Given the description of an element on the screen output the (x, y) to click on. 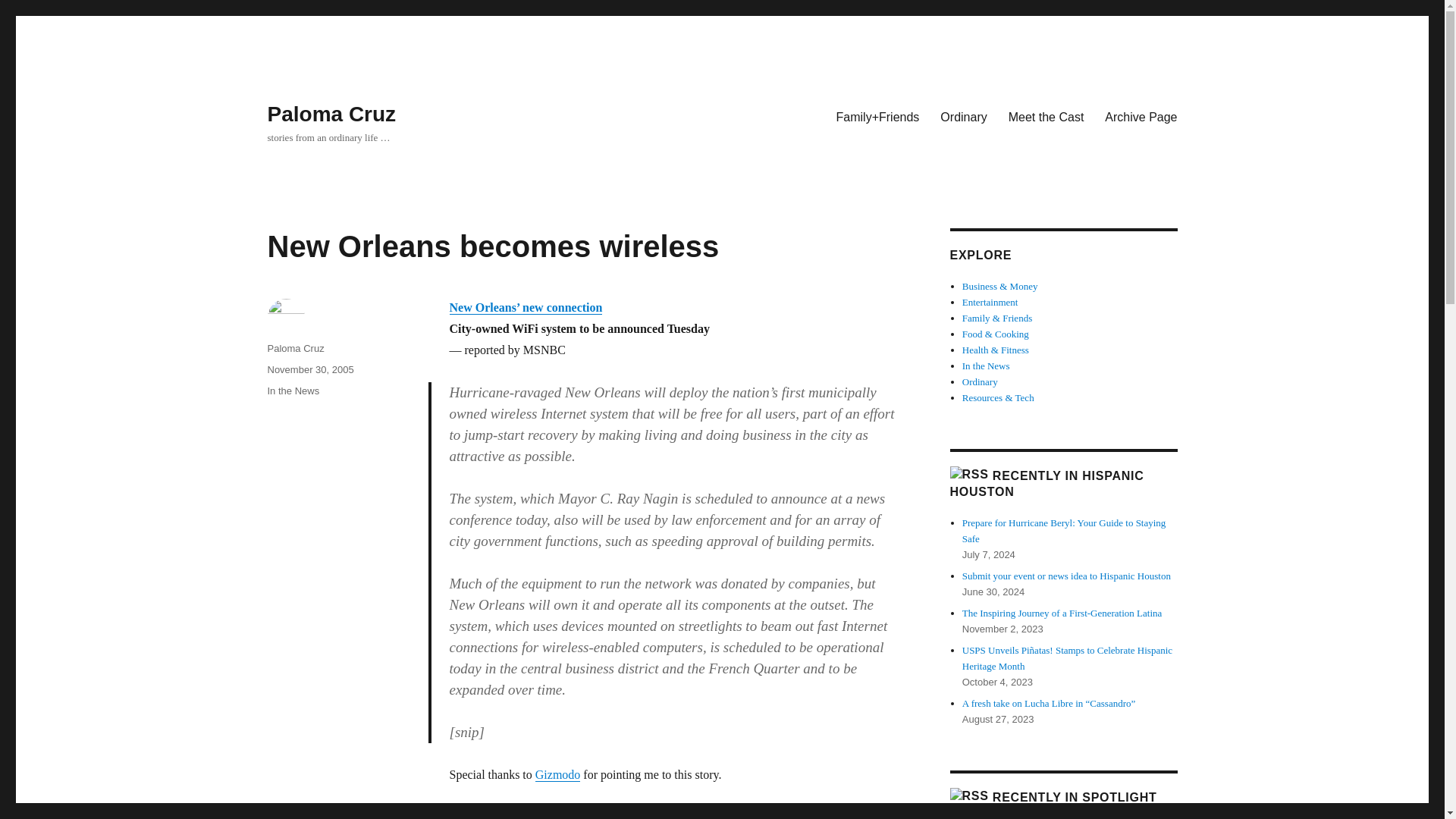
November 30, 2005 (309, 369)
RECENTLY IN HISPANIC HOUSTON (1045, 483)
Ordinary (979, 381)
Paloma Cruz (294, 348)
In the News (292, 390)
Paloma Cruz (331, 114)
Ordinary (963, 116)
Archive Page (1141, 116)
Gizmodo (557, 774)
Meet the Cast (1045, 116)
